Given the description of an element on the screen output the (x, y) to click on. 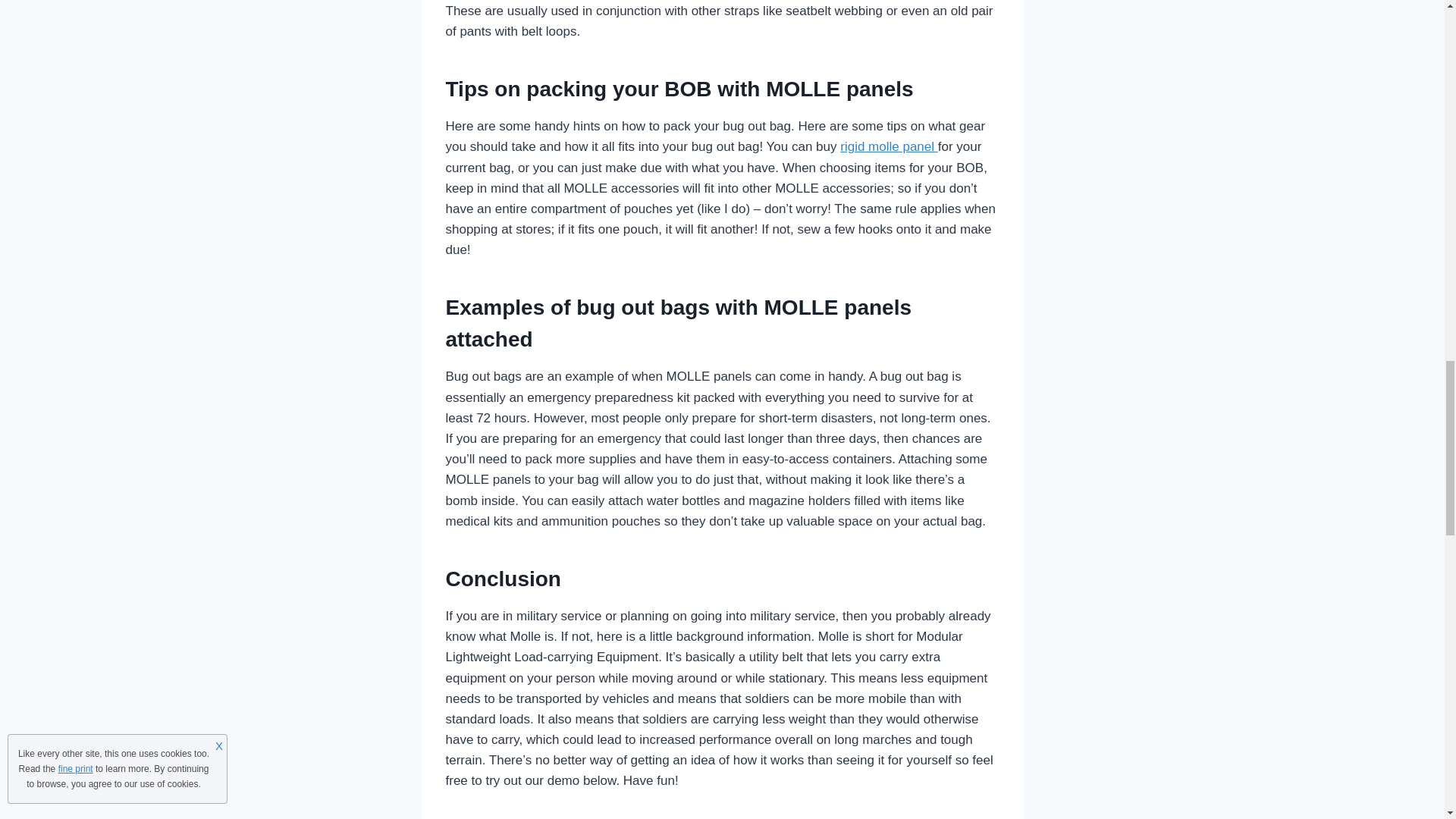
rigid molle panel (888, 146)
